Given the description of an element on the screen output the (x, y) to click on. 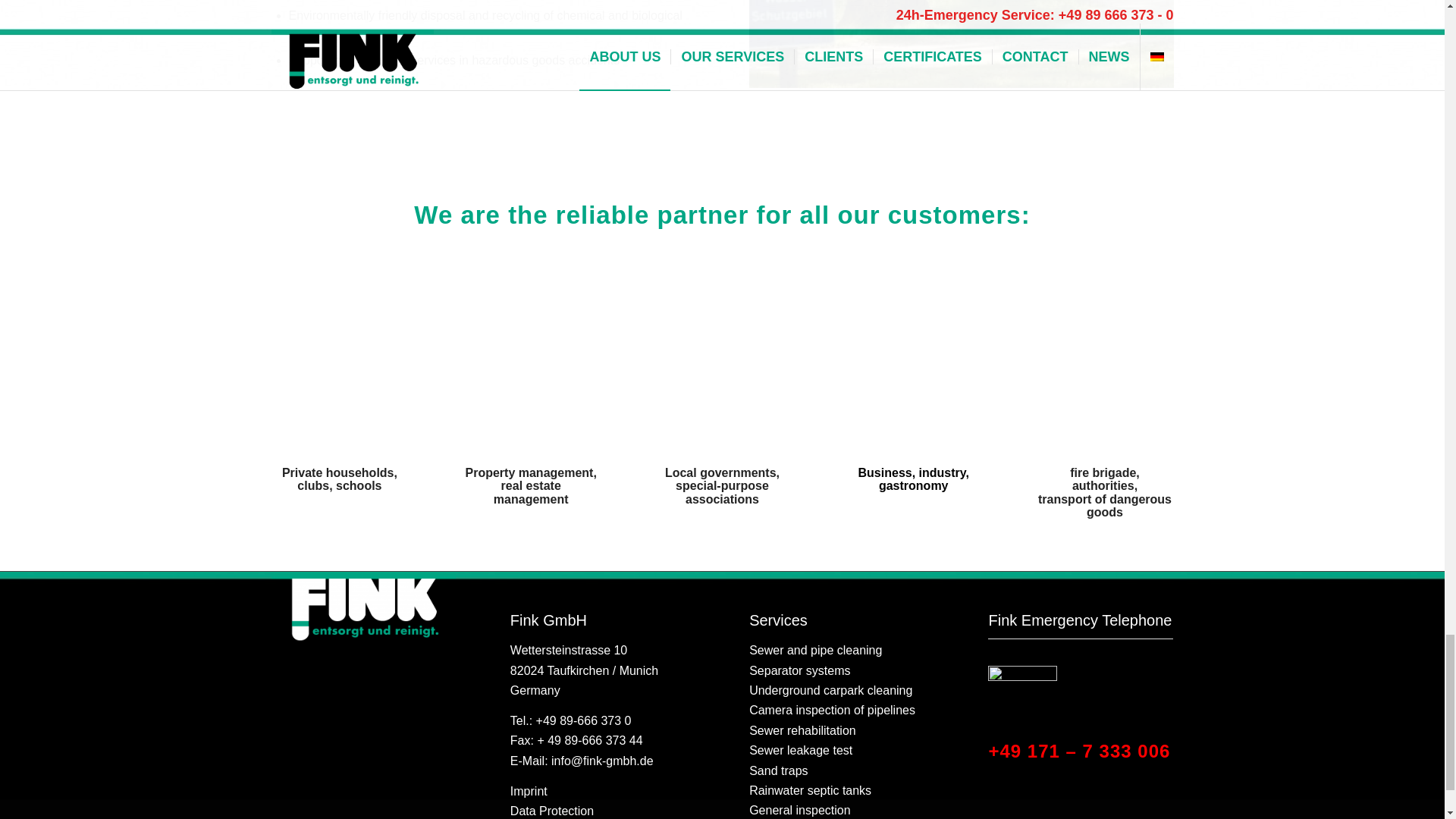
Fink entsorgt und reinigt Taufkirchen (363, 606)
